Given the description of an element on the screen output the (x, y) to click on. 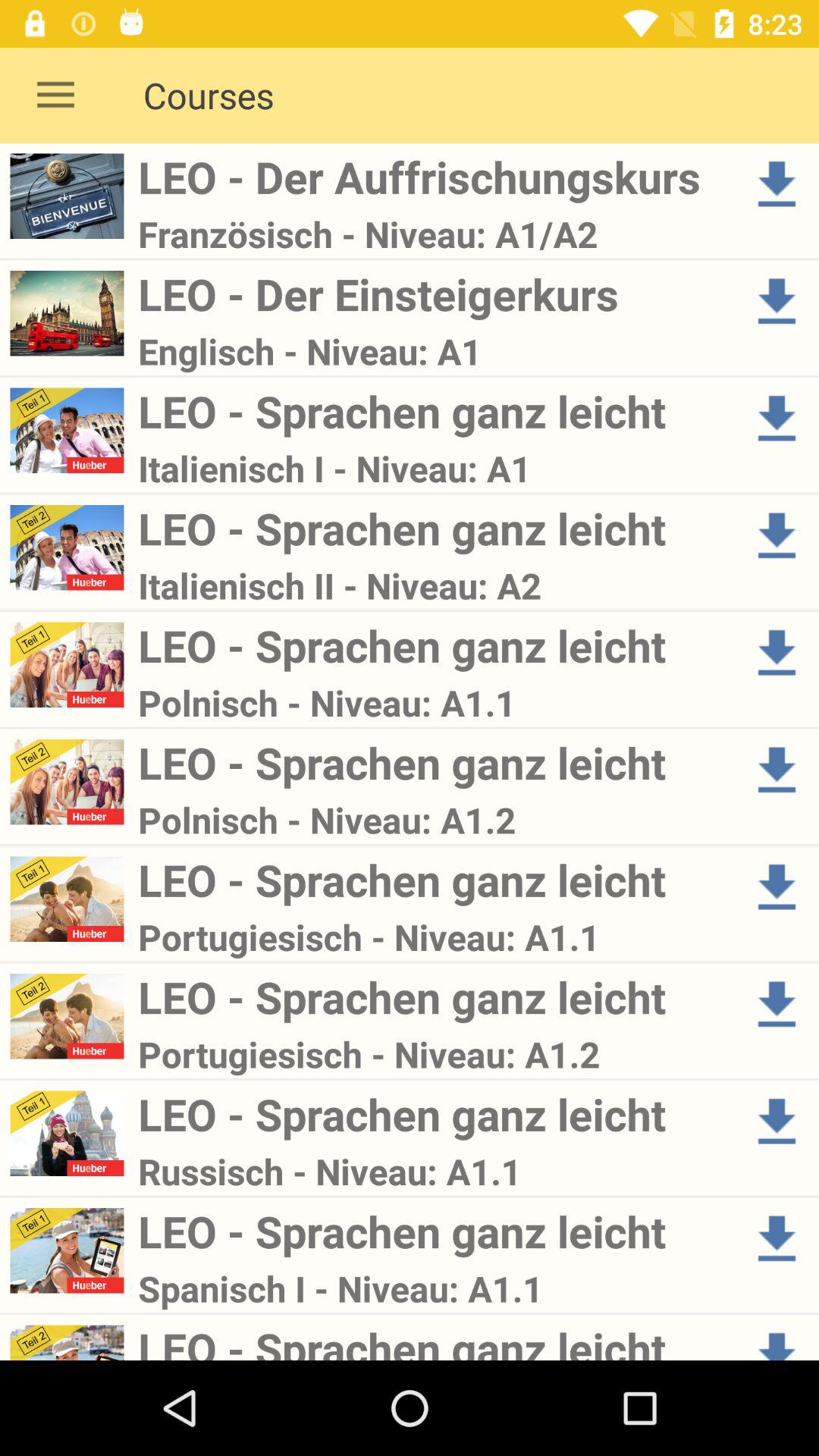
click icon above the leo sprachen ganz item (434, 1288)
